Given the description of an element on the screen output the (x, y) to click on. 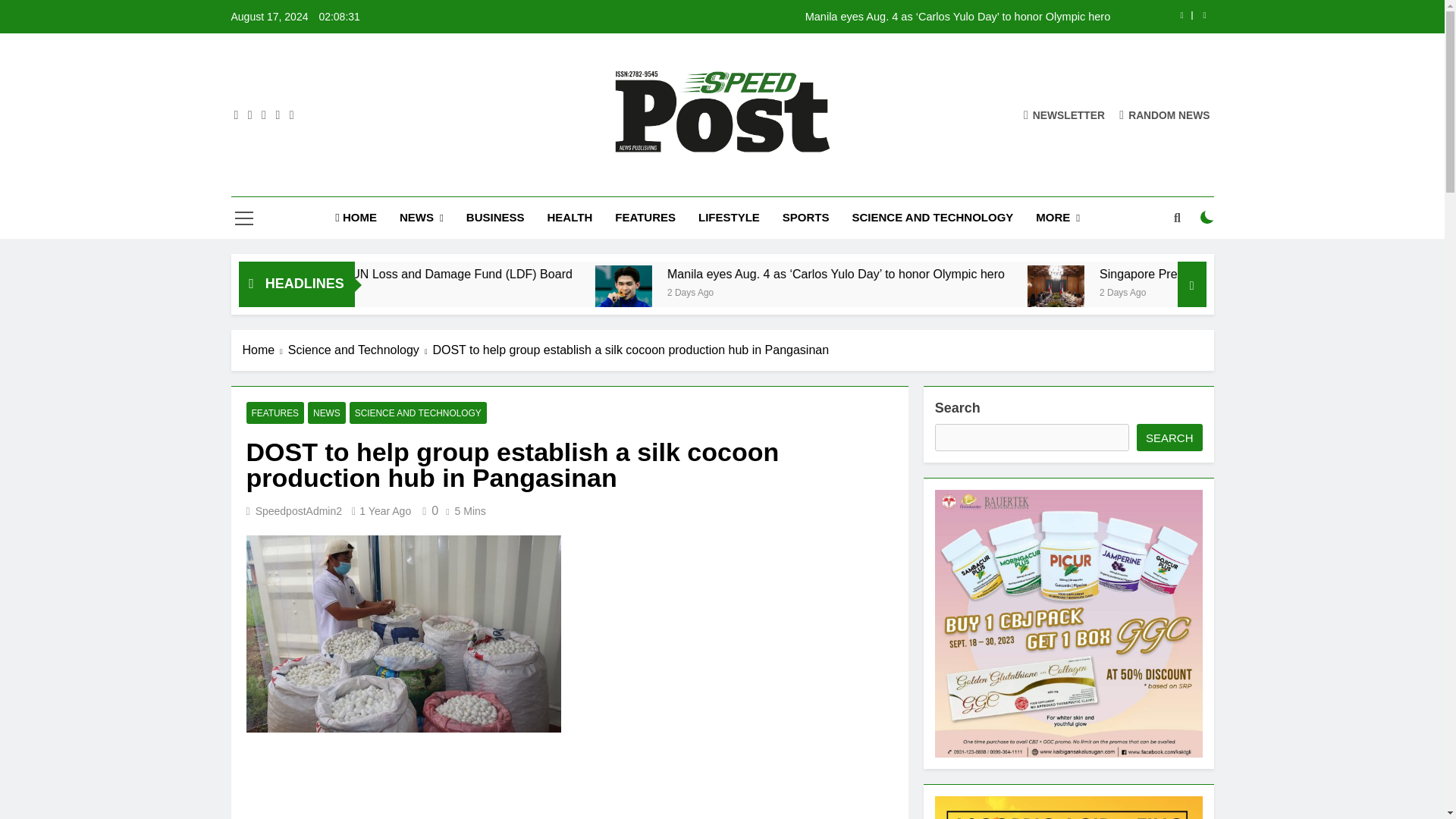
NEWSLETTER (1064, 114)
RANDOM NEWS (1164, 114)
on (1206, 217)
SPEEDPOST NEWS PUBLISHING (745, 182)
